Given the description of an element on the screen output the (x, y) to click on. 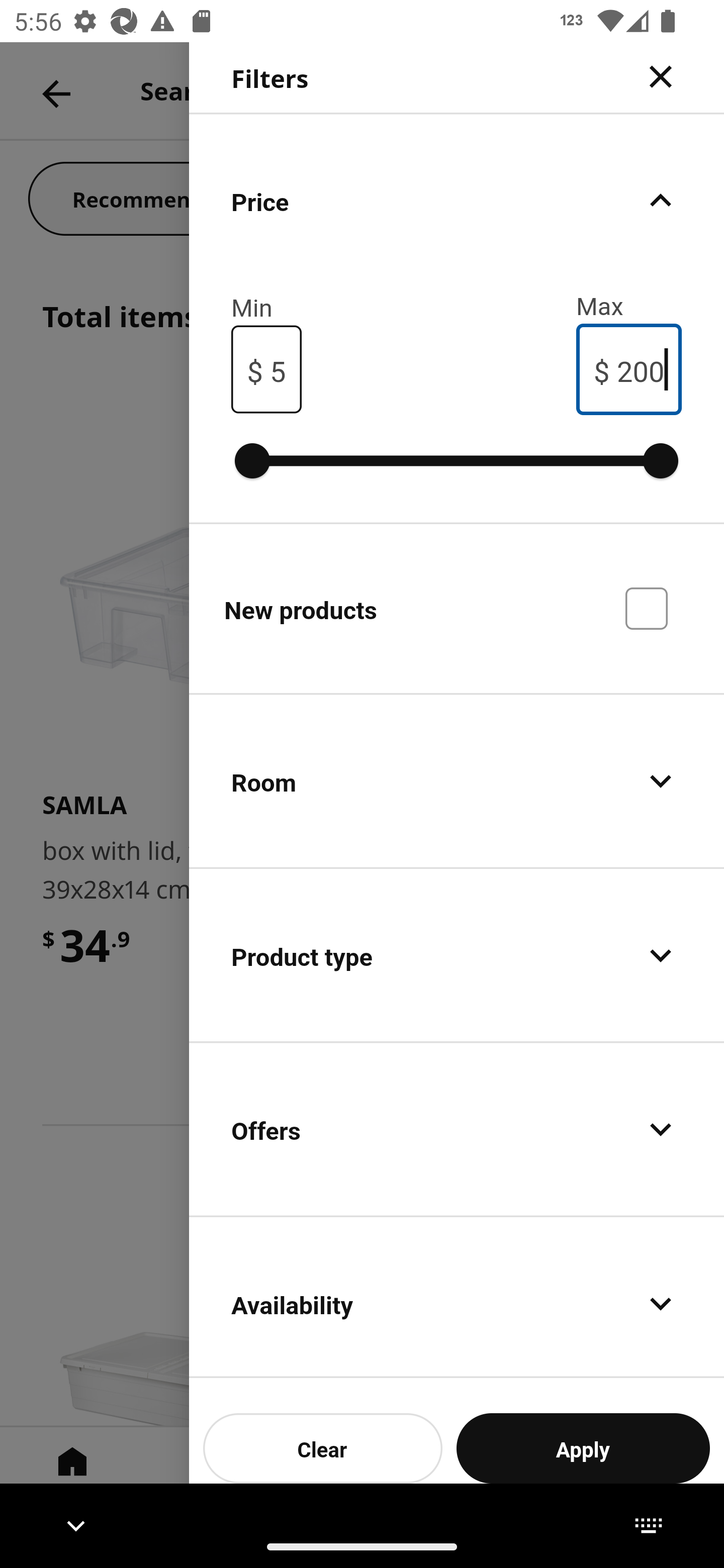
Price (456, 200)
$  200 (629, 369)
$  5 (265, 369)
5 (277, 369)
200 (639, 369)
0% 100% (456, 460)
New products (456, 607)
Room (456, 780)
Product type (456, 954)
Offers (456, 1128)
Availability (456, 1297)
Clear (322, 1447)
Apply (583, 1447)
